Given the description of an element on the screen output the (x, y) to click on. 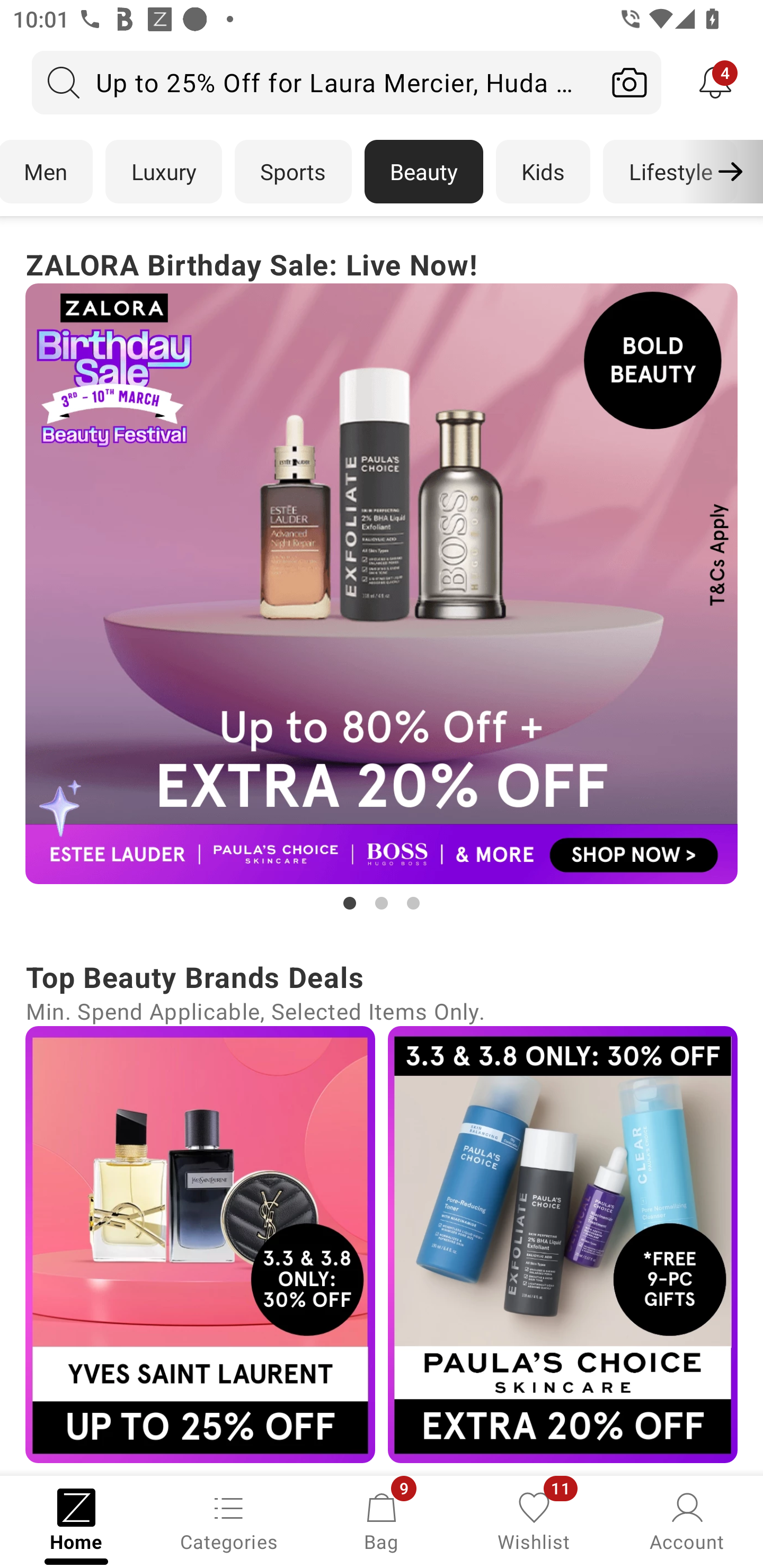
Men (46, 171)
Luxury (163, 171)
Sports (293, 171)
Beauty (423, 171)
Kids (542, 171)
Lifestyle (669, 171)
ZALORA Birthday Sale: Live Now!  Campaign banner (381, 578)
Campaign banner (381, 583)
Campaign banner (200, 1243)
Campaign banner (562, 1243)
Categories (228, 1519)
Bag, 9 new notifications Bag (381, 1519)
Wishlist, 11 new notifications Wishlist (533, 1519)
Account (686, 1519)
